Given the description of an element on the screen output the (x, y) to click on. 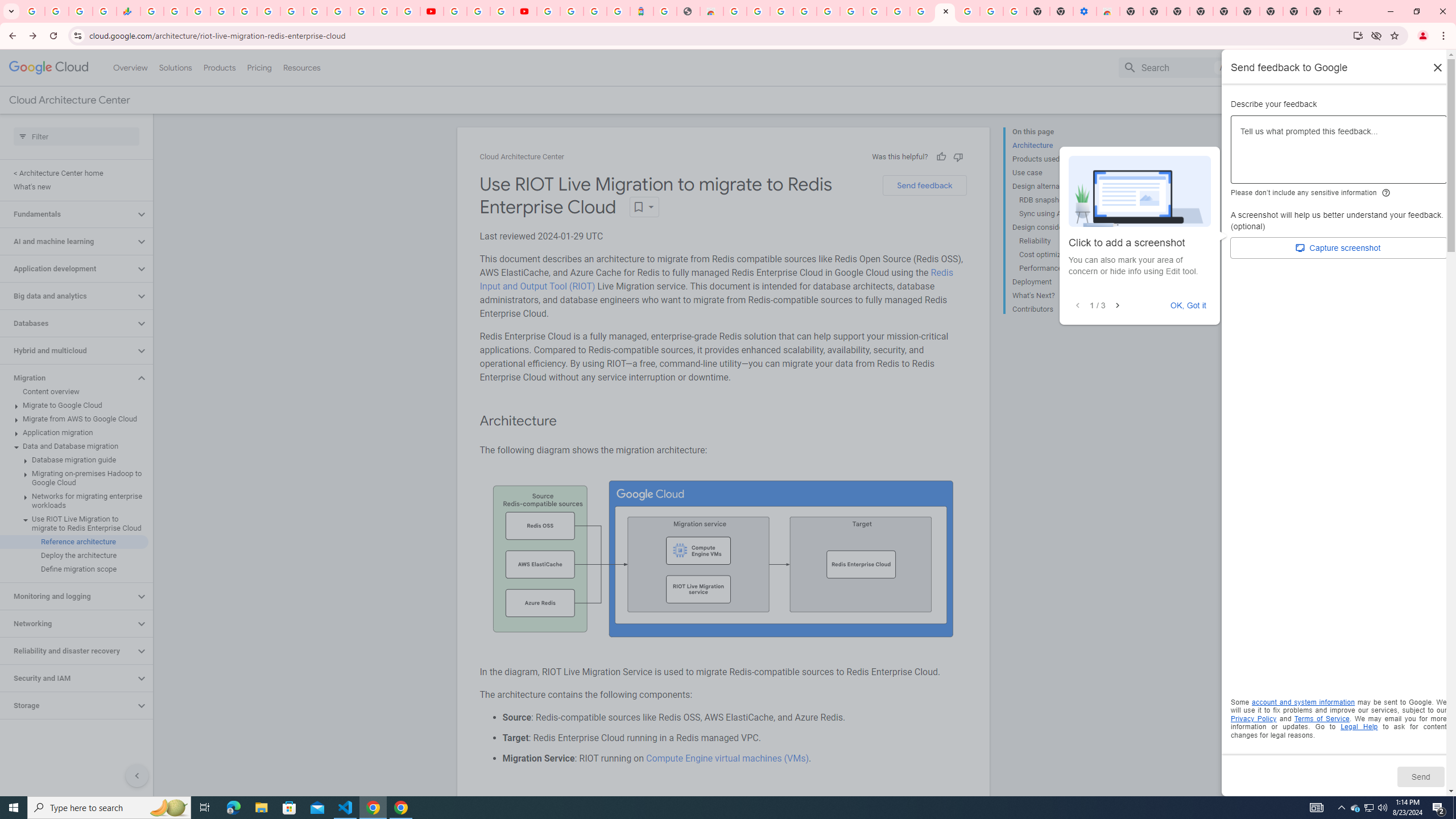
Create your Google Account (757, 11)
Application migration (74, 432)
Deploy the architecture (74, 555)
Sync using Active-Passive (1062, 213)
Sign in - Google Accounts (968, 11)
Ad Settings (804, 11)
What's Next? (1058, 295)
Storage (67, 705)
Networks for migrating enterprise workloads (74, 500)
Migrating on-premises Hadoop to Google Cloud (74, 477)
